Given the description of an element on the screen output the (x, y) to click on. 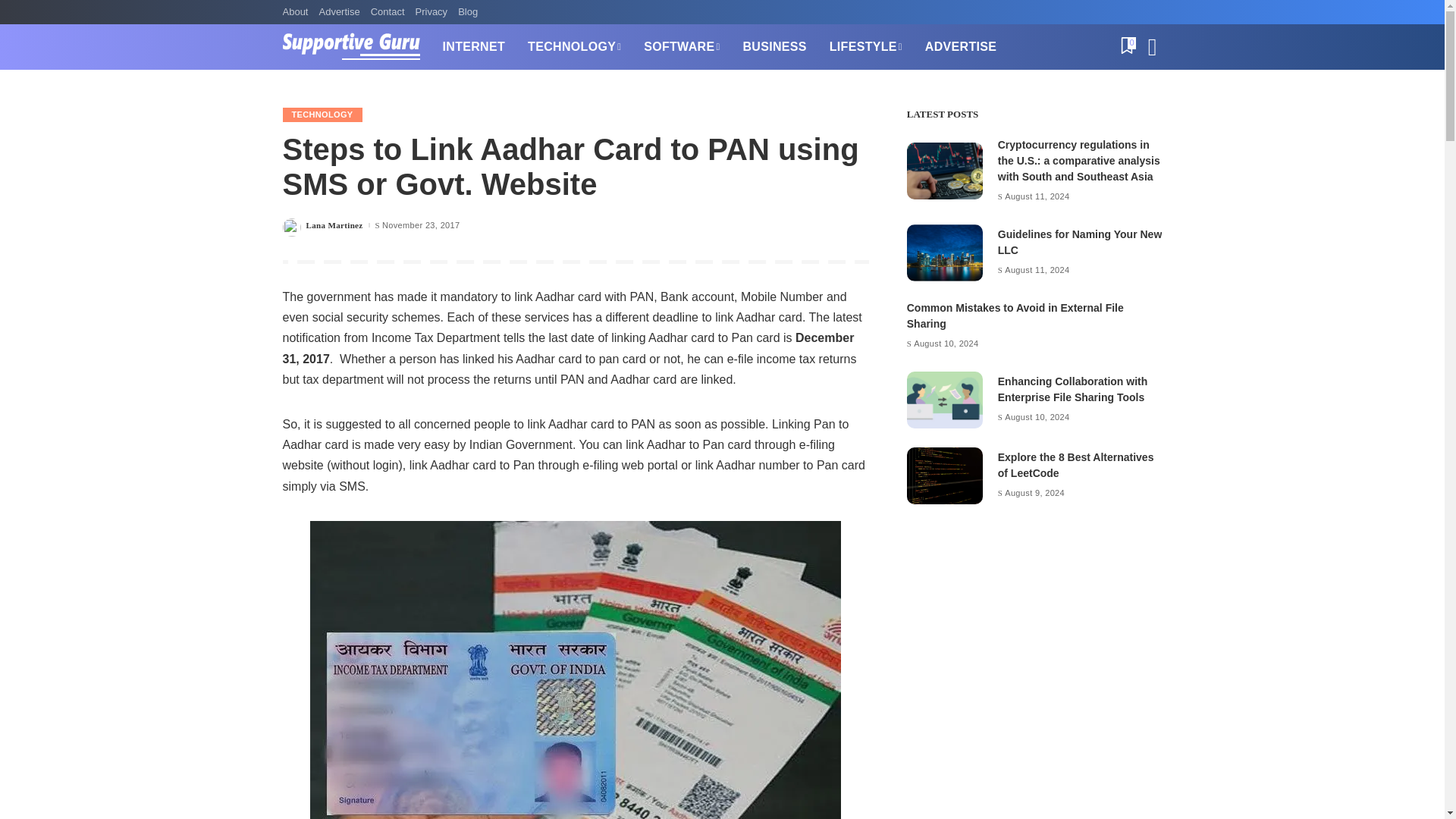
LIFESTYLE (866, 46)
Blog (467, 11)
About (297, 11)
INTERNET (473, 46)
TECHNOLOGY (573, 46)
Contact (387, 11)
Privacy (430, 11)
Advertise (339, 11)
BUSINESS (773, 46)
Supportive Guru (350, 46)
